Given the description of an element on the screen output the (x, y) to click on. 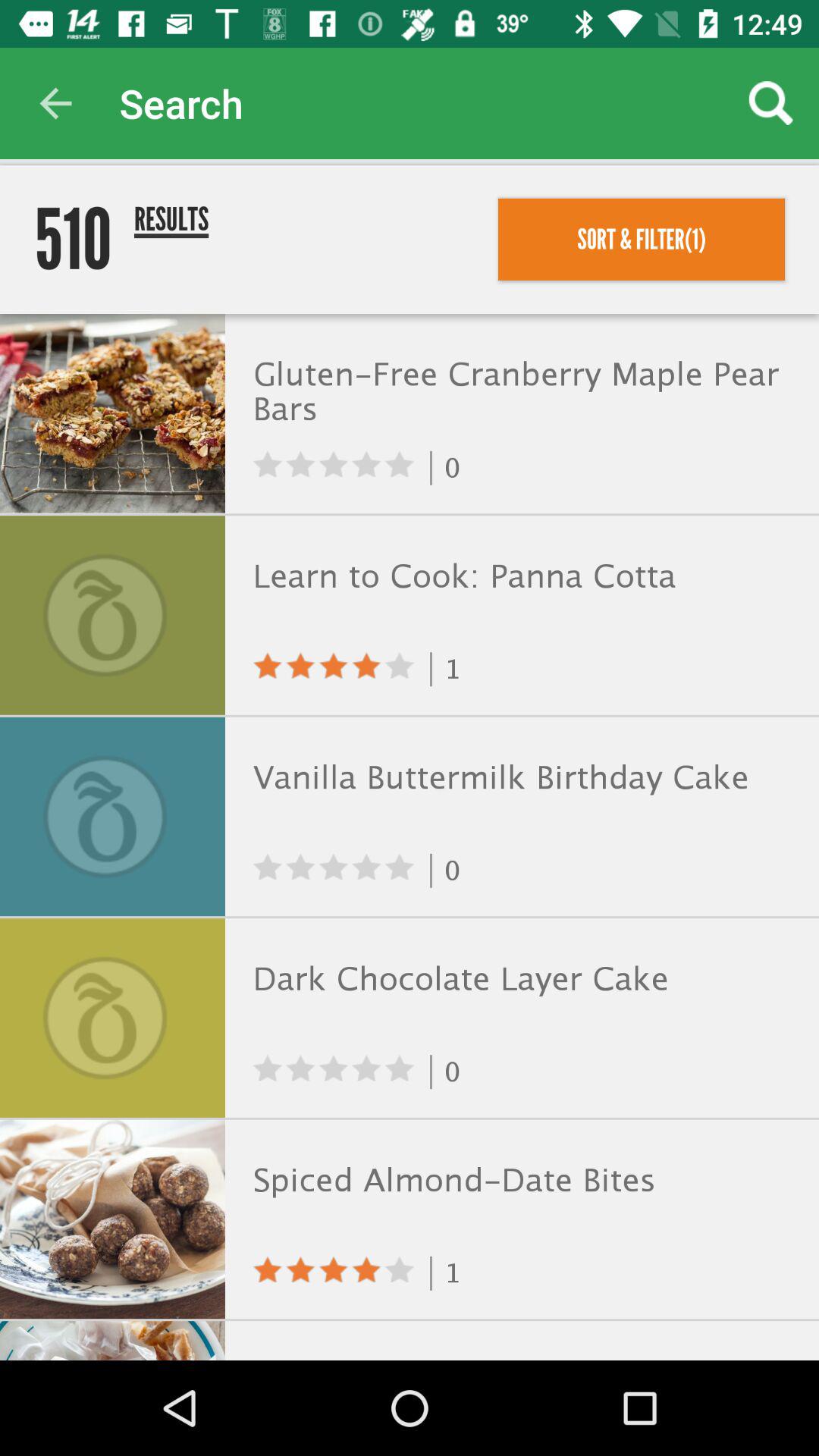
tap icon below 0 icon (518, 1180)
